Given the description of an element on the screen output the (x, y) to click on. 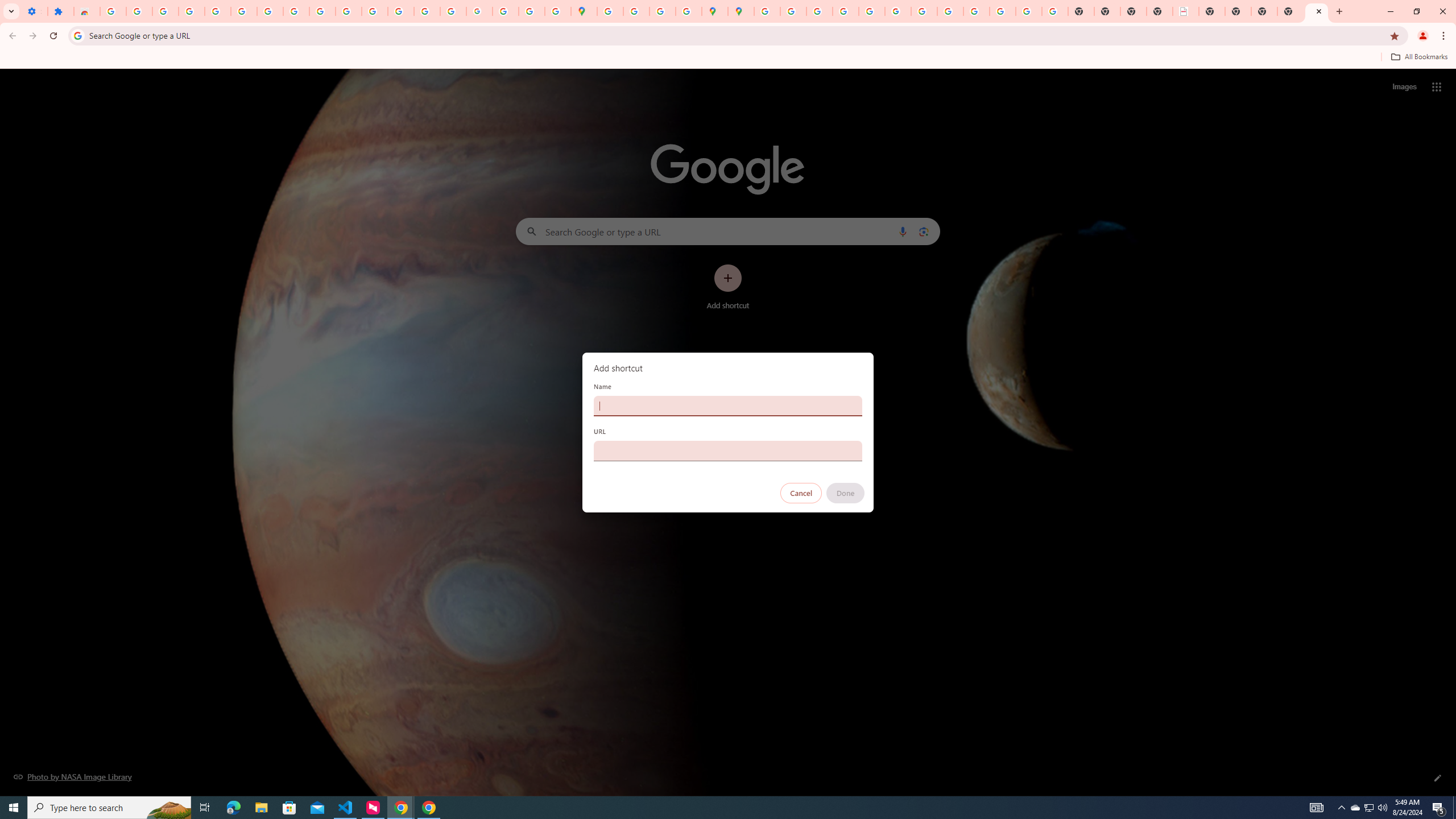
Sign in - Google Accounts (243, 11)
Extensions (60, 11)
Learn how to find your photos - Google Photos Help (191, 11)
YouTube (322, 11)
Browse Chrome as a guest - Computer - Google Chrome Help (949, 11)
Name (727, 405)
All Bookmarks (1418, 56)
Delete photos & videos - Computer - Google Photos Help (165, 11)
Done (845, 493)
Safety in Our Products - Google Safety Center (689, 11)
